Given the description of an element on the screen output the (x, y) to click on. 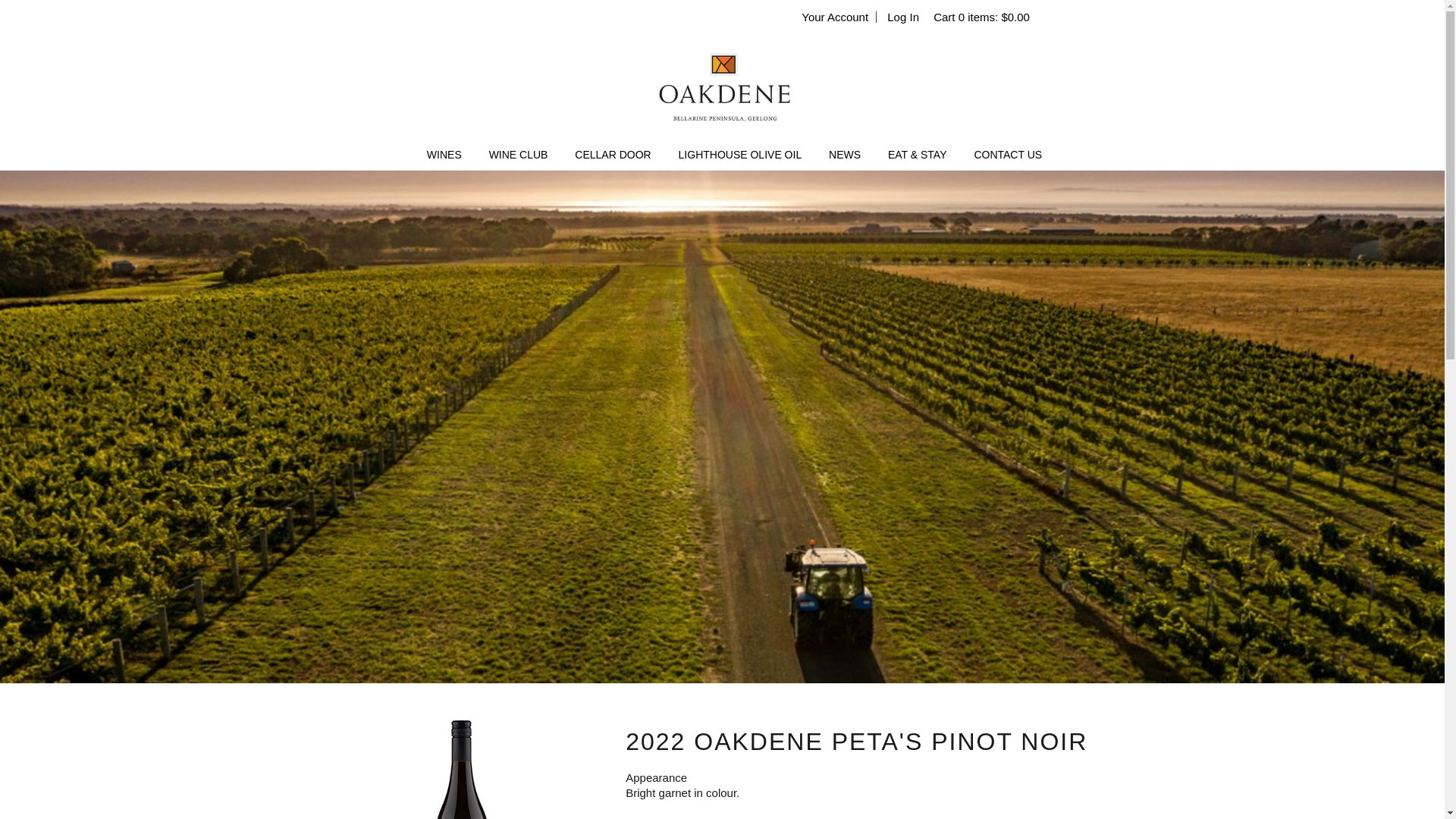
LIGHTHOUSE OLIVE OIL (740, 154)
NEWS (844, 154)
CELLAR DOOR (612, 154)
CONTACT US (1008, 154)
Oakdene Vineyards Home (722, 87)
WINES (443, 154)
Log In (902, 16)
Your Account (834, 16)
WINE CLUB (518, 154)
